Given the description of an element on the screen output the (x, y) to click on. 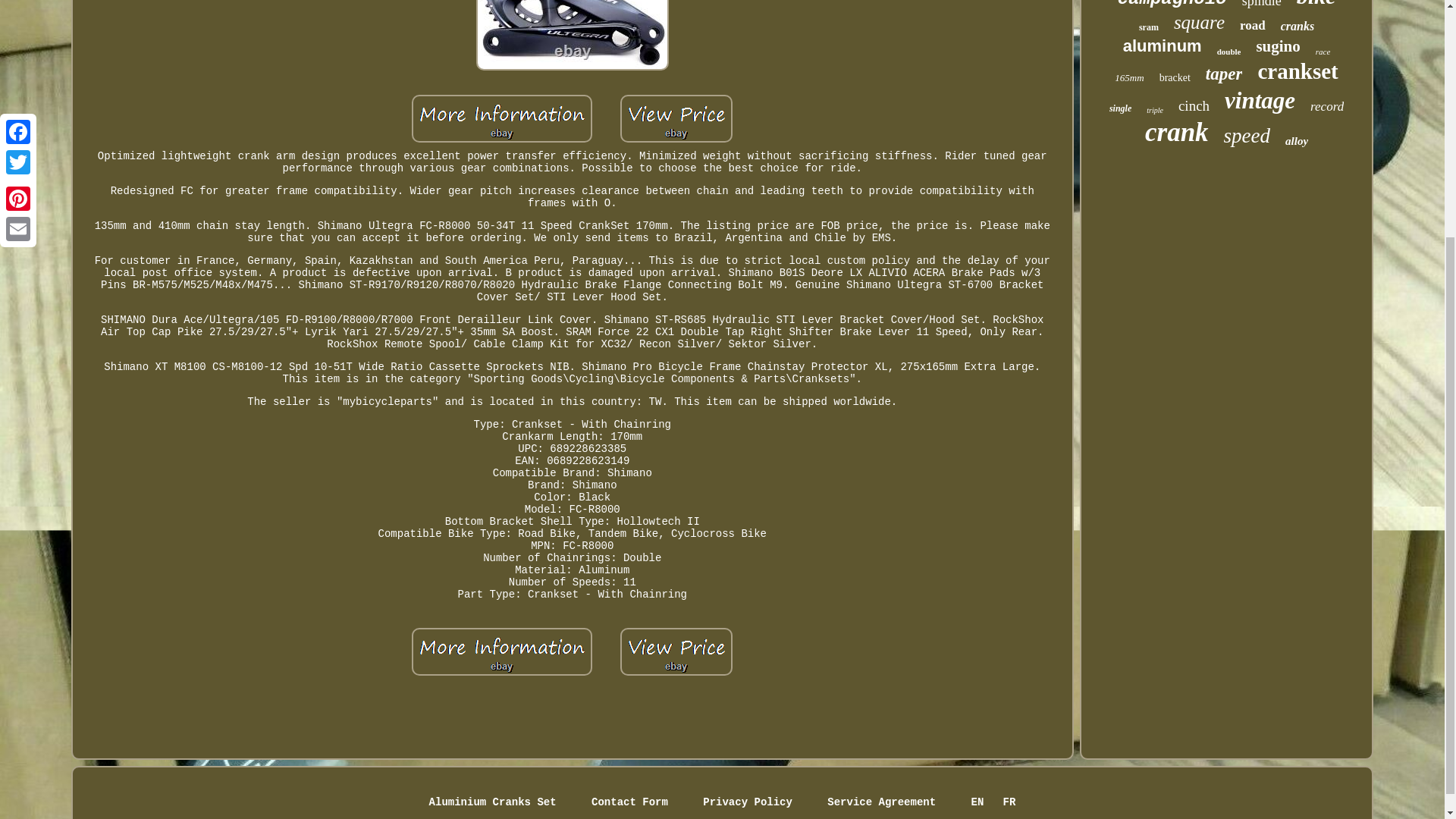
Shimano Ultegra FC-R8000 50-34T 11 Speed Crank Set 170mm (676, 651)
Shimano Ultegra FC-R8000 50-34T 11 Speed Crank Set 170mm (502, 651)
Shimano Ultegra FC-R8000 50-34T 11 Speed Crank Set 170mm (572, 35)
Shimano Ultegra FC-R8000 50-34T 11 Speed Crank Set 170mm (676, 118)
Shimano Ultegra FC-R8000 50-34T 11 Speed Crank Set 170mm (502, 118)
